Given the description of an element on the screen output the (x, y) to click on. 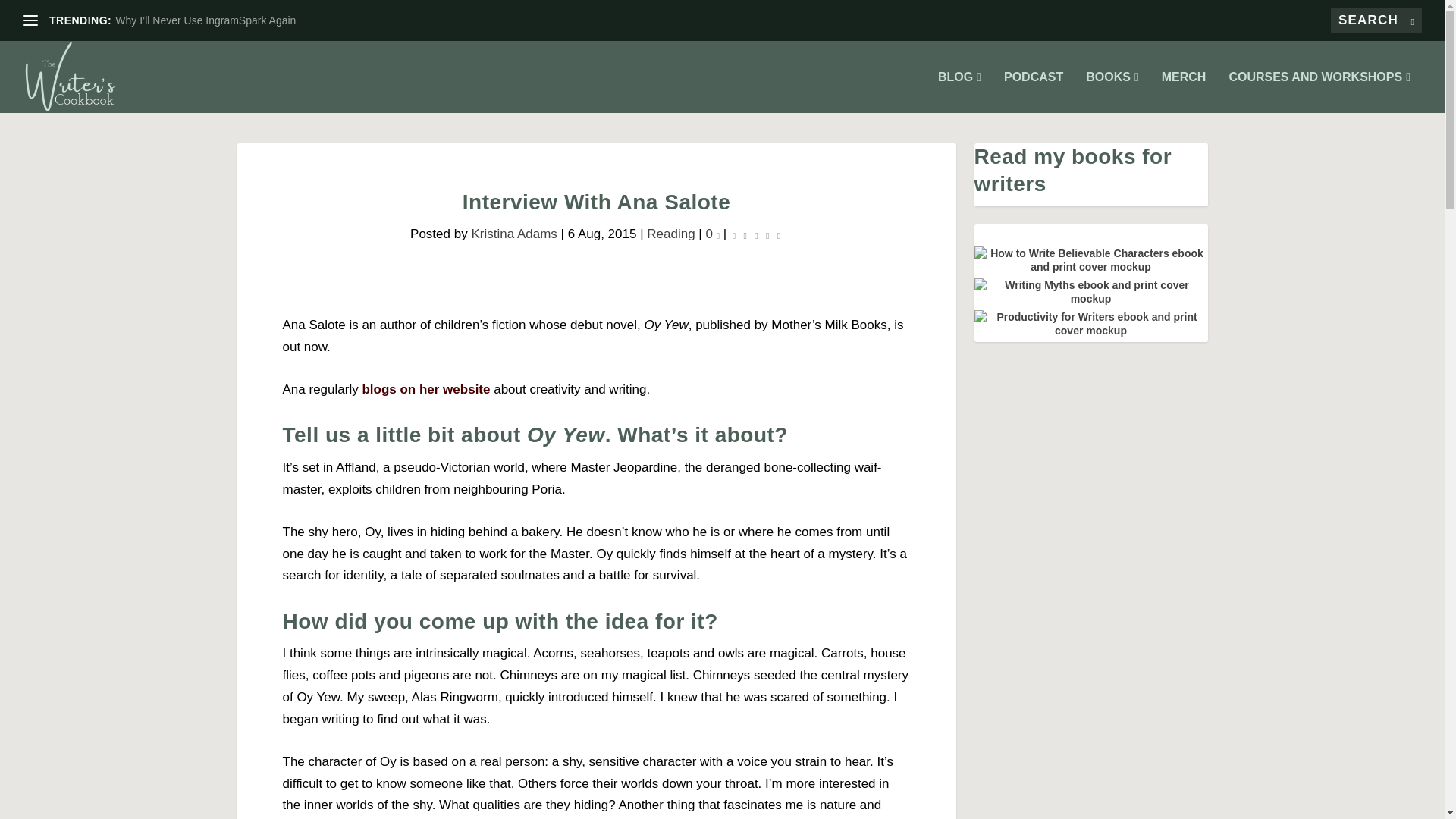
Posts by Kristina Adams (513, 233)
BLOG (959, 92)
Rating: 0.00 (756, 234)
MERCH (1184, 92)
0 (713, 233)
BOOKS (1112, 92)
blogs on her website (425, 389)
PODCAST (1033, 92)
Kristina Adams (513, 233)
Search for: (1376, 20)
